Given the description of an element on the screen output the (x, y) to click on. 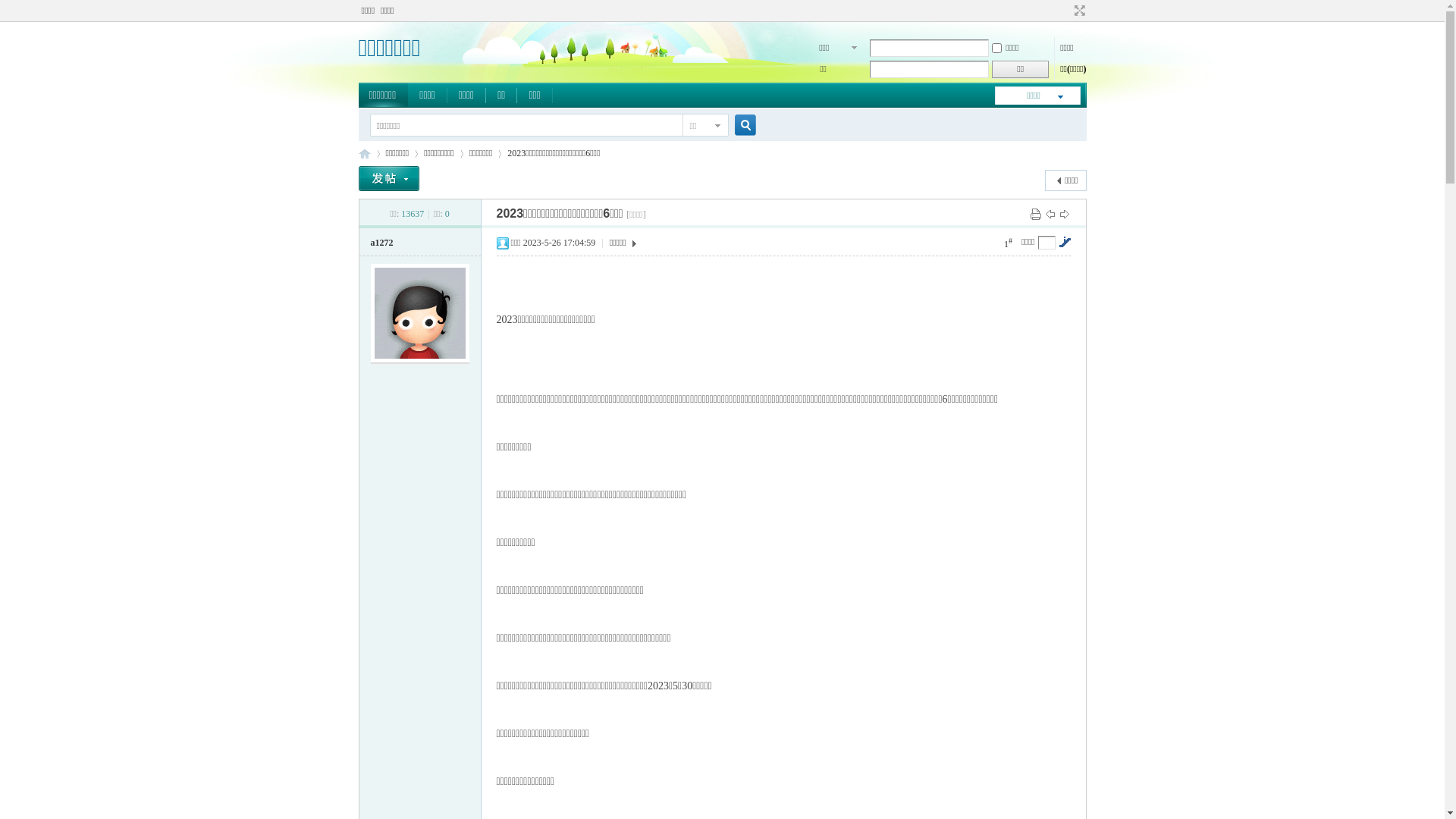
1# Element type: text (1007, 242)
a1272 Element type: text (381, 242)
true Element type: text (738, 125)
